Given the description of an element on the screen output the (x, y) to click on. 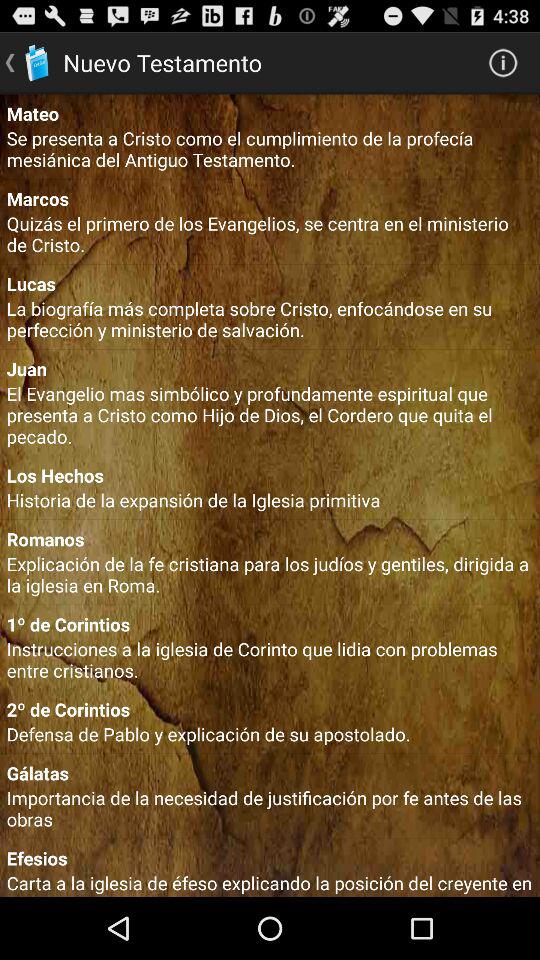
select the icon which is to the right of nuevo testamento (503, 63)
